Given the description of an element on the screen output the (x, y) to click on. 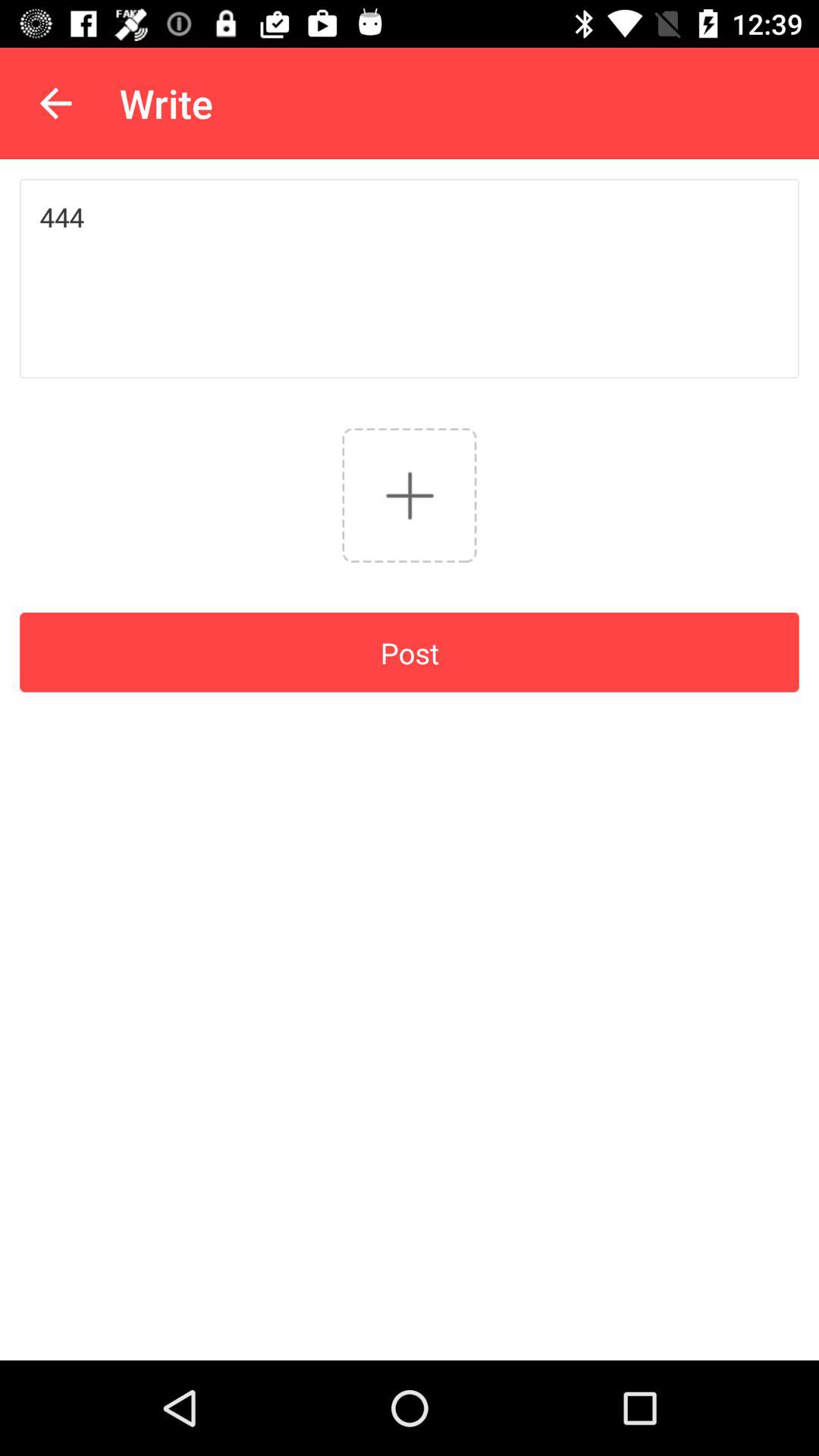
add photo (409, 495)
